Given the description of an element on the screen output the (x, y) to click on. 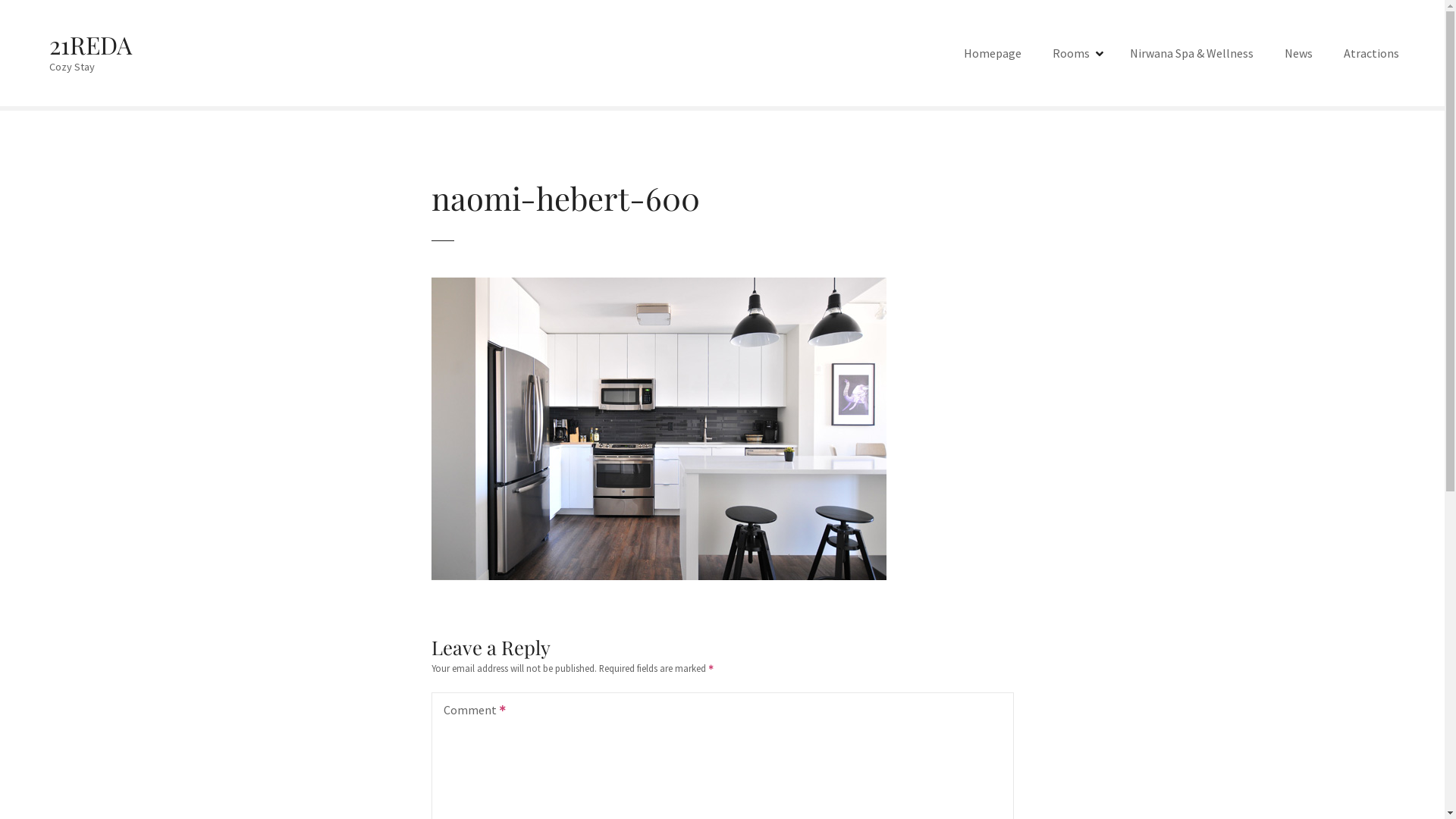
naomi-hebert-600 Element type: hover (657, 286)
21REDA Element type: text (90, 44)
Rooms Element type: text (1075, 52)
News Element type: text (1298, 52)
Homepage Element type: text (992, 52)
Nirwana Spa & Wellness Element type: text (1191, 52)
Atractions Element type: text (1371, 52)
